Given the description of an element on the screen output the (x, y) to click on. 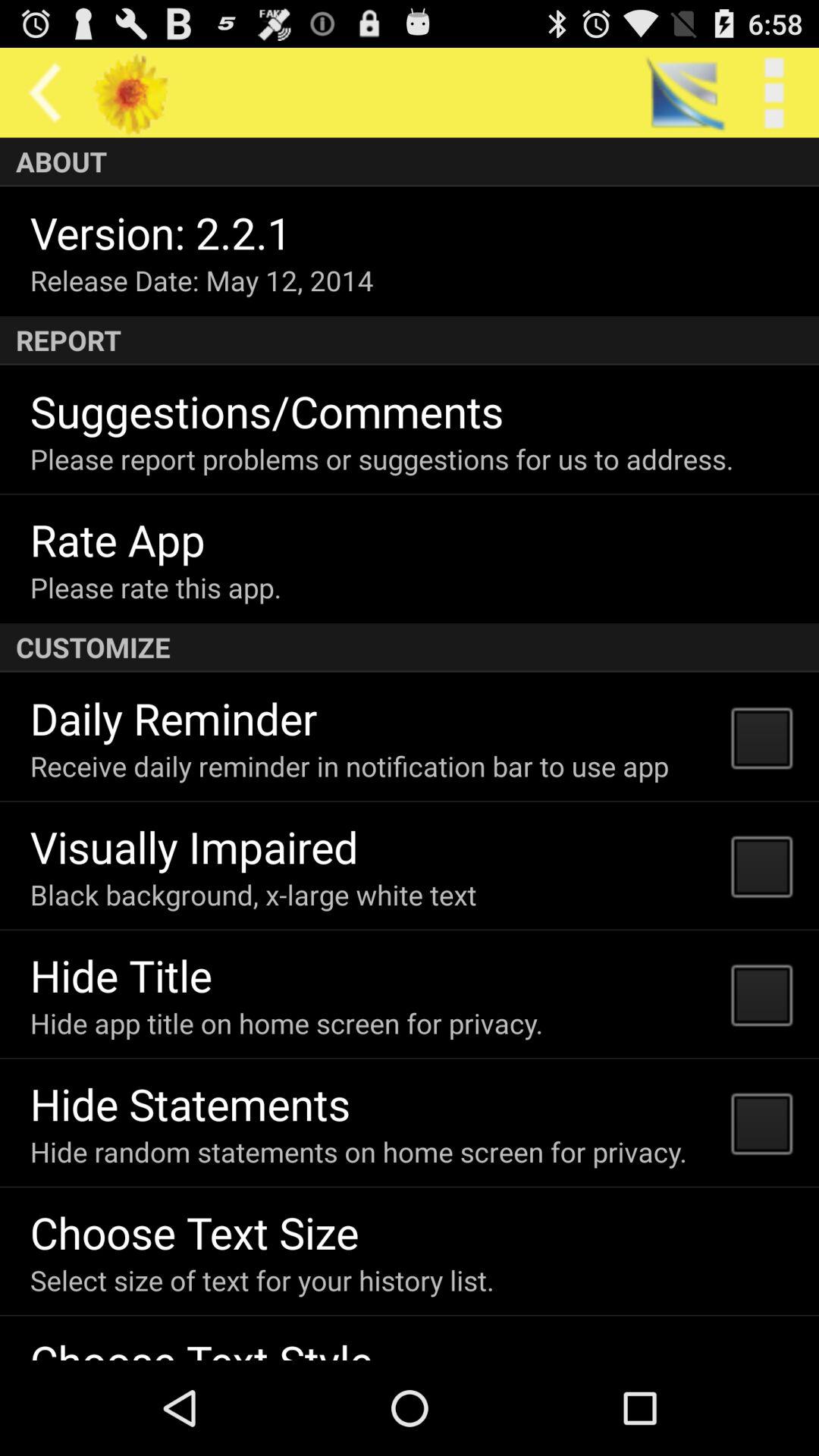
tap icon above the choose text style item (262, 1280)
